Given the description of an element on the screen output the (x, y) to click on. 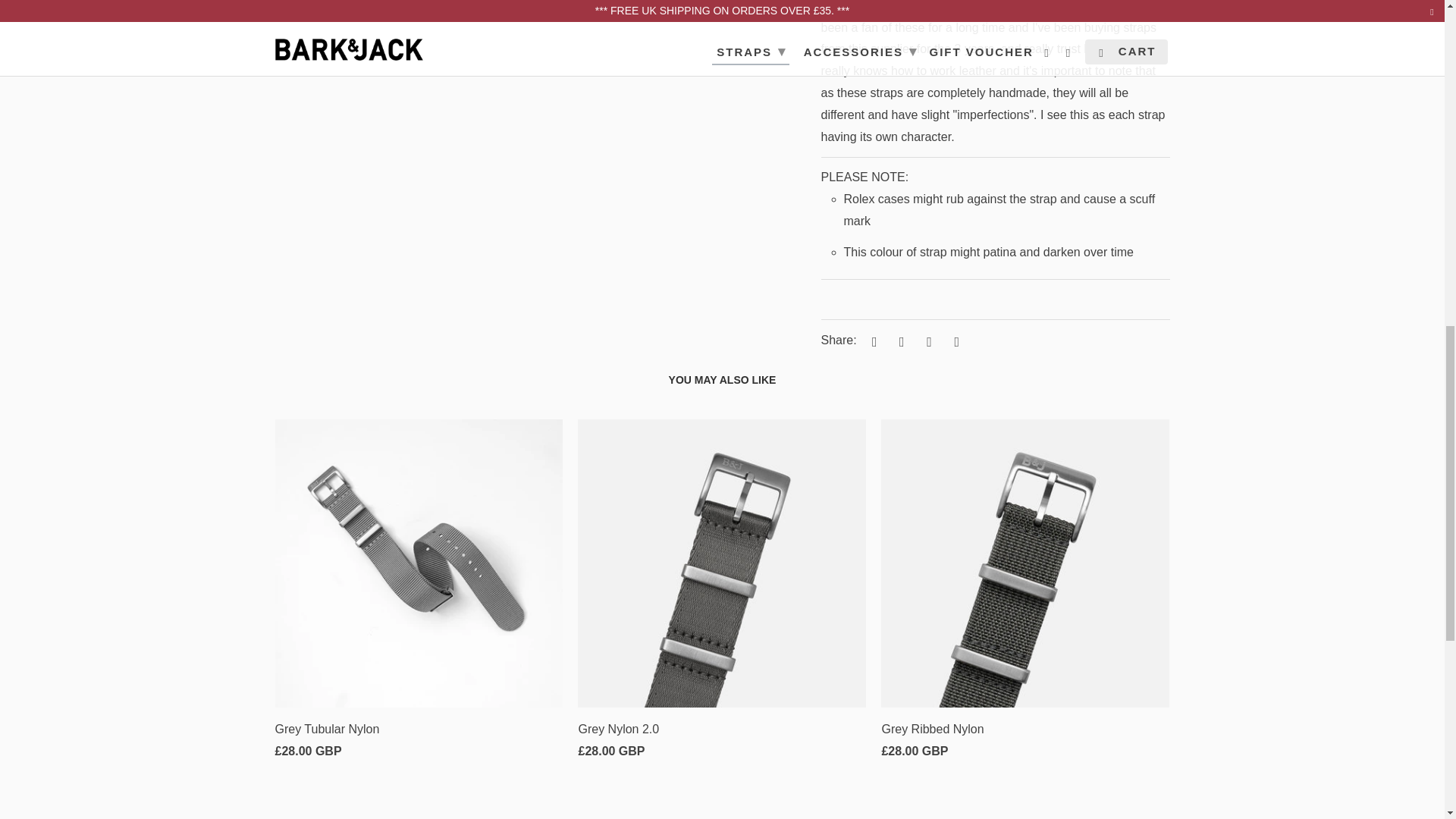
Share this on Twitter (871, 340)
Email this to a friend (954, 340)
Share this on Facebook (898, 340)
Share this on Pinterest (927, 340)
